Given the description of an element on the screen output the (x, y) to click on. 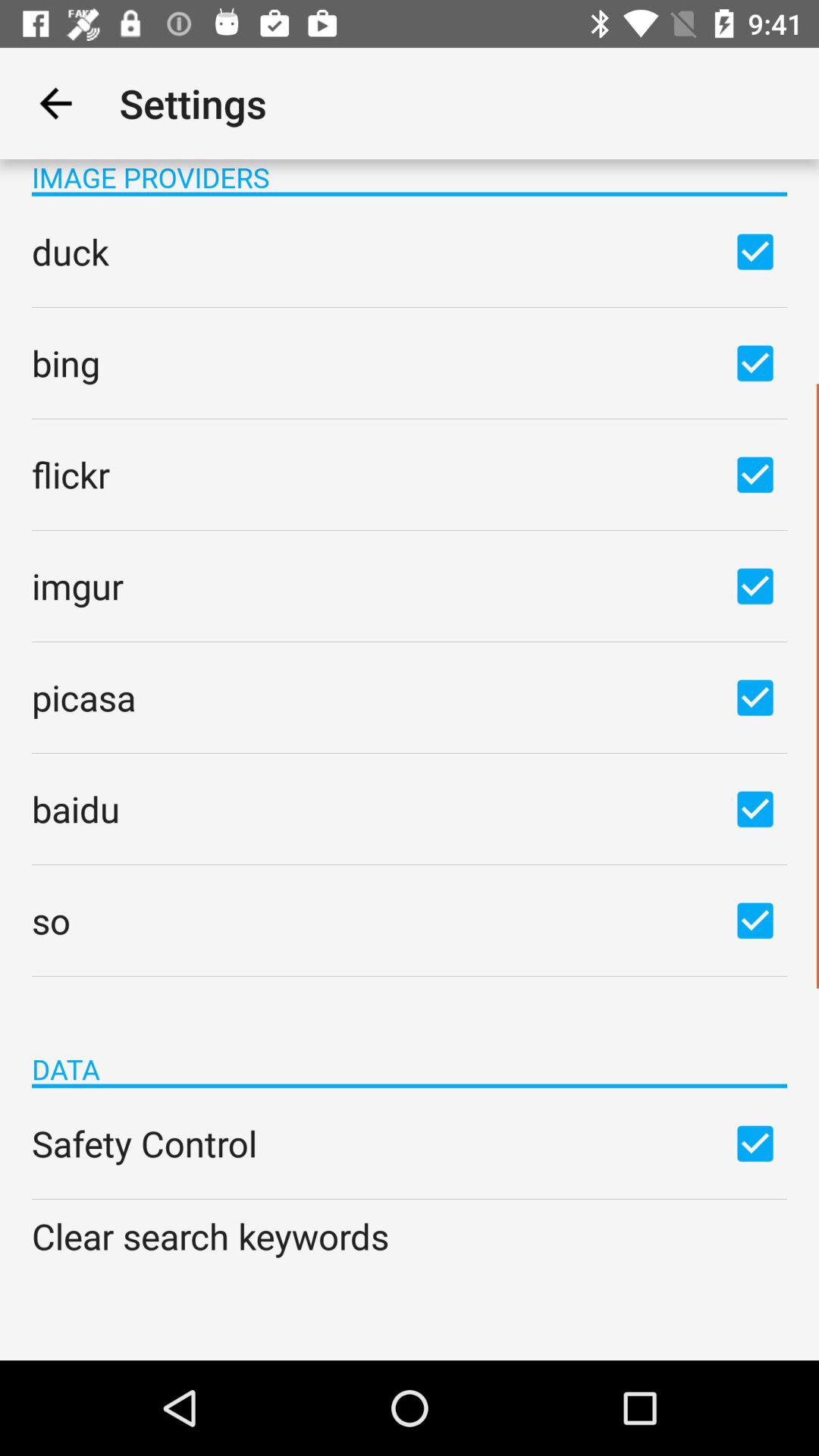
toggle option for so (755, 920)
